Given the description of an element on the screen output the (x, y) to click on. 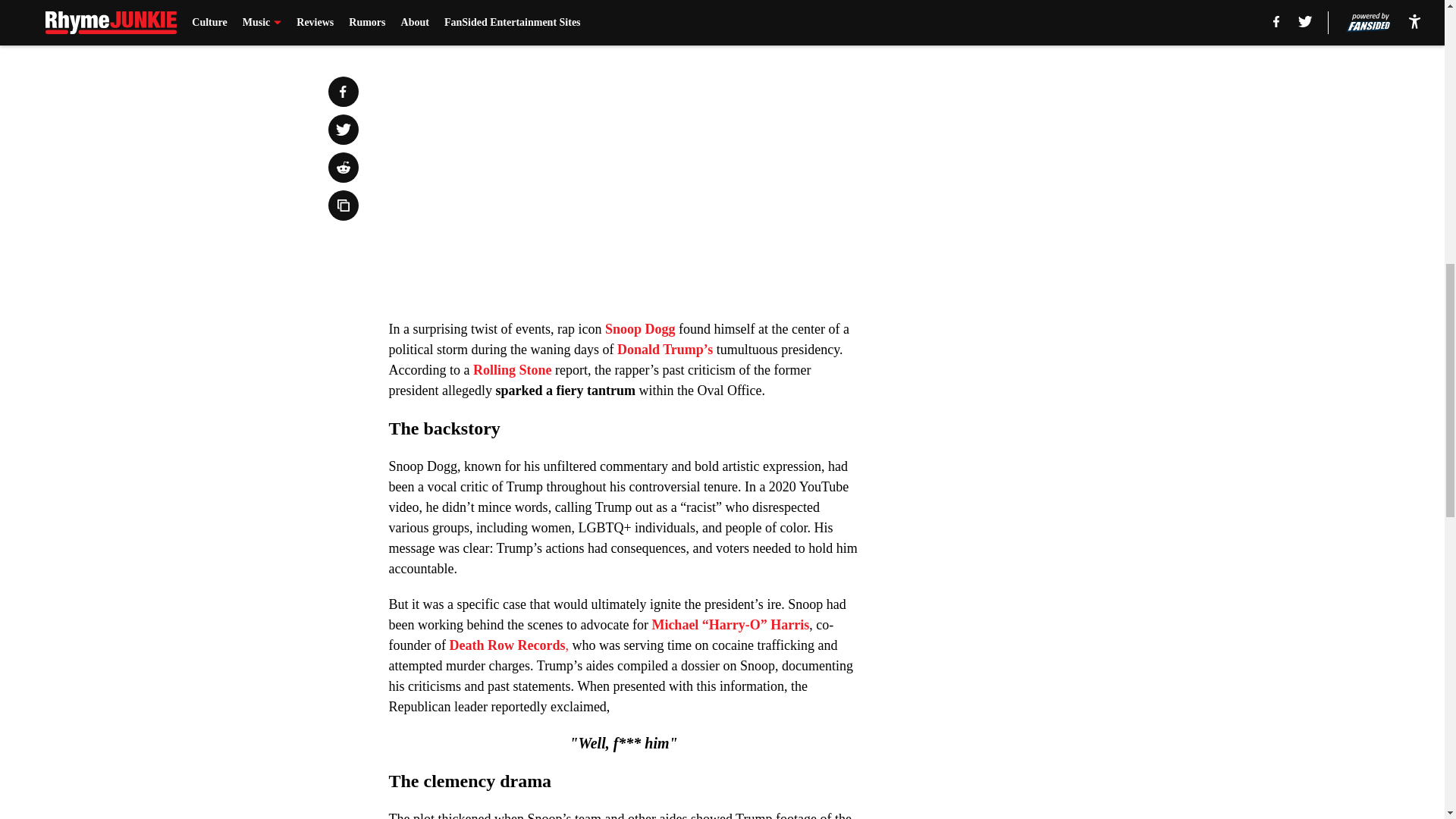
Death Row Records, (510, 645)
Rolling Stone (513, 369)
Snoop Dogg (640, 328)
